Given the description of an element on the screen output the (x, y) to click on. 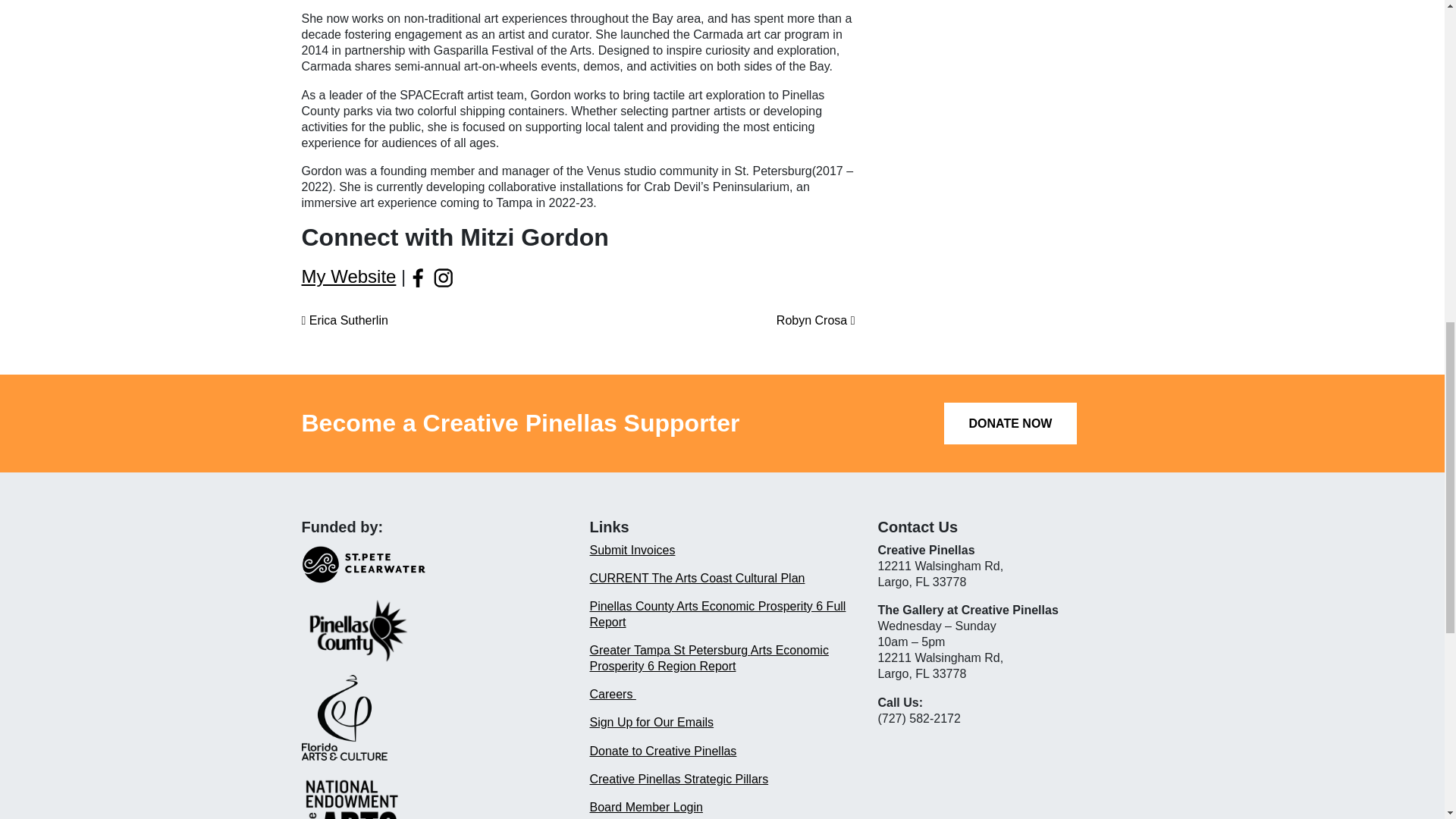
 Erica Sutherlin (344, 319)
Greater Tampa St Petersburg (669, 649)
Arts Economic Prosperity 6 Region Report (708, 657)
Creative Pinellas Strategic Pillars (678, 779)
CURRENT The Arts Coast Cultural Plan (697, 577)
My Website (348, 276)
Robyn Crosa  (816, 319)
Submit Invoices (632, 549)
Donate to Creative Pinellas (662, 750)
Sign Up for Our Emails (651, 721)
